Given the description of an element on the screen output the (x, y) to click on. 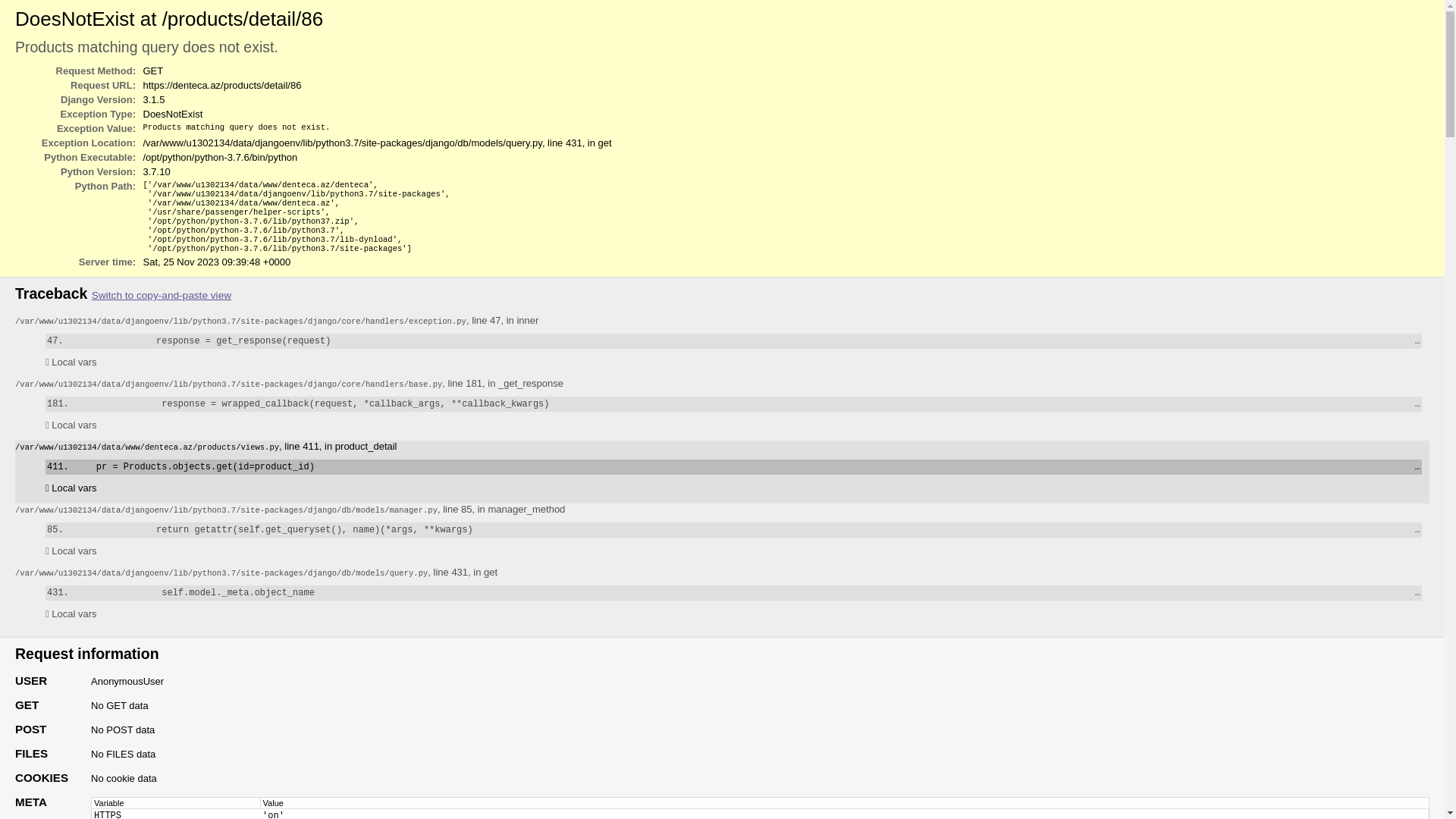
Switch to copy-and-paste view Element type: text (161, 295)
